Given the description of an element on the screen output the (x, y) to click on. 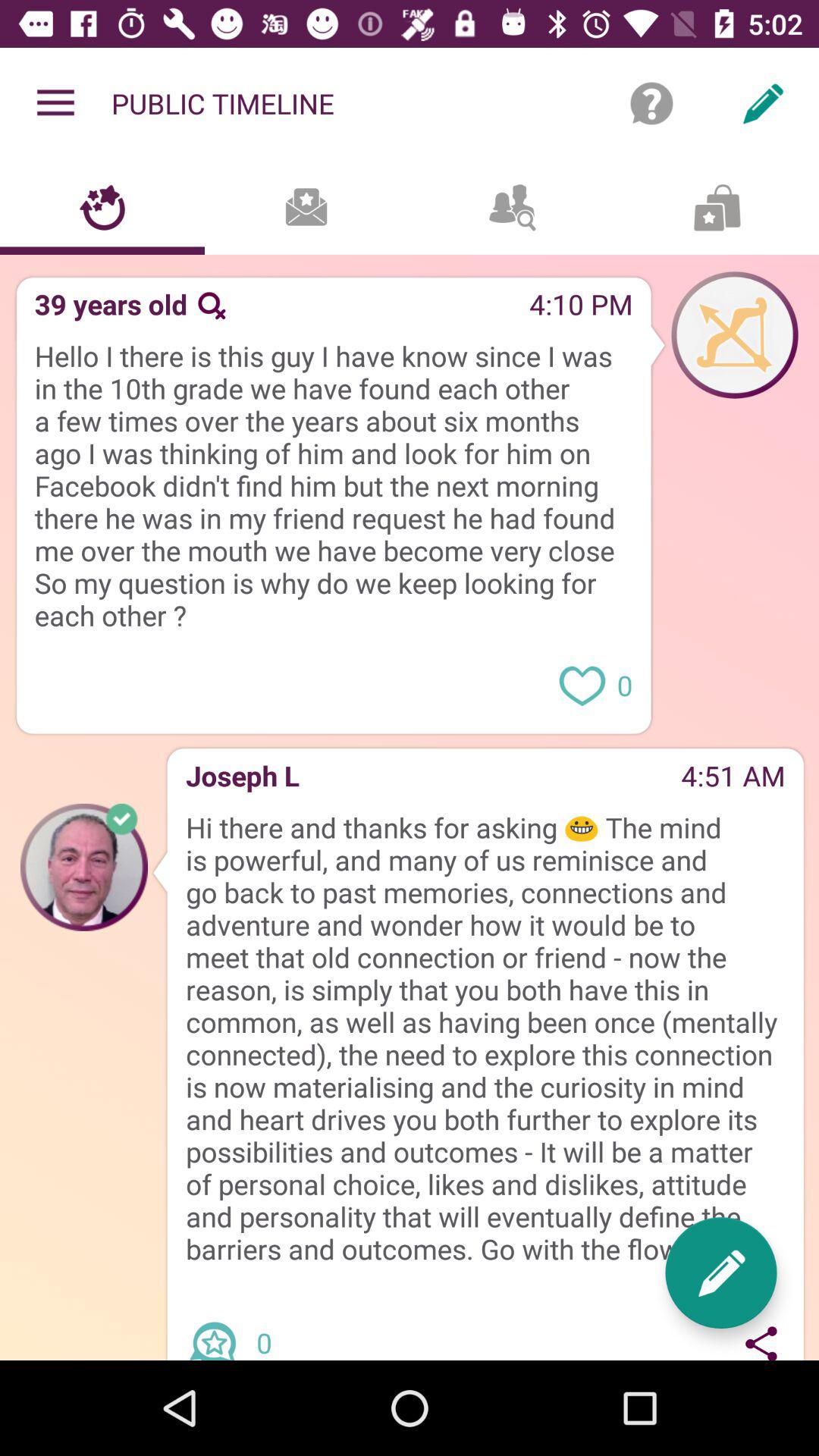
launch the item next to 39 years old item (211, 305)
